Given the description of an element on the screen output the (x, y) to click on. 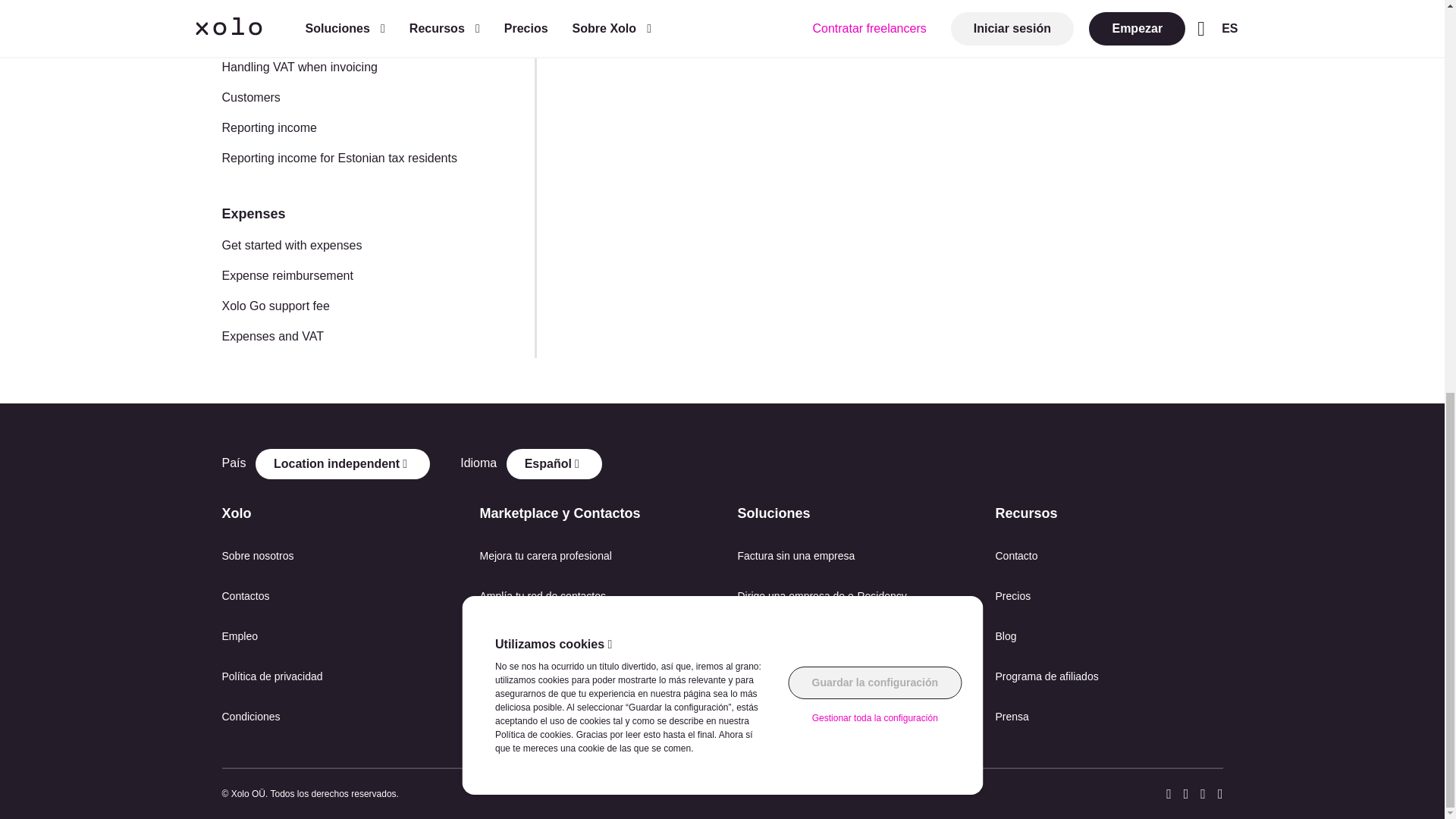
Location independent (342, 463)
